Given the description of an element on the screen output the (x, y) to click on. 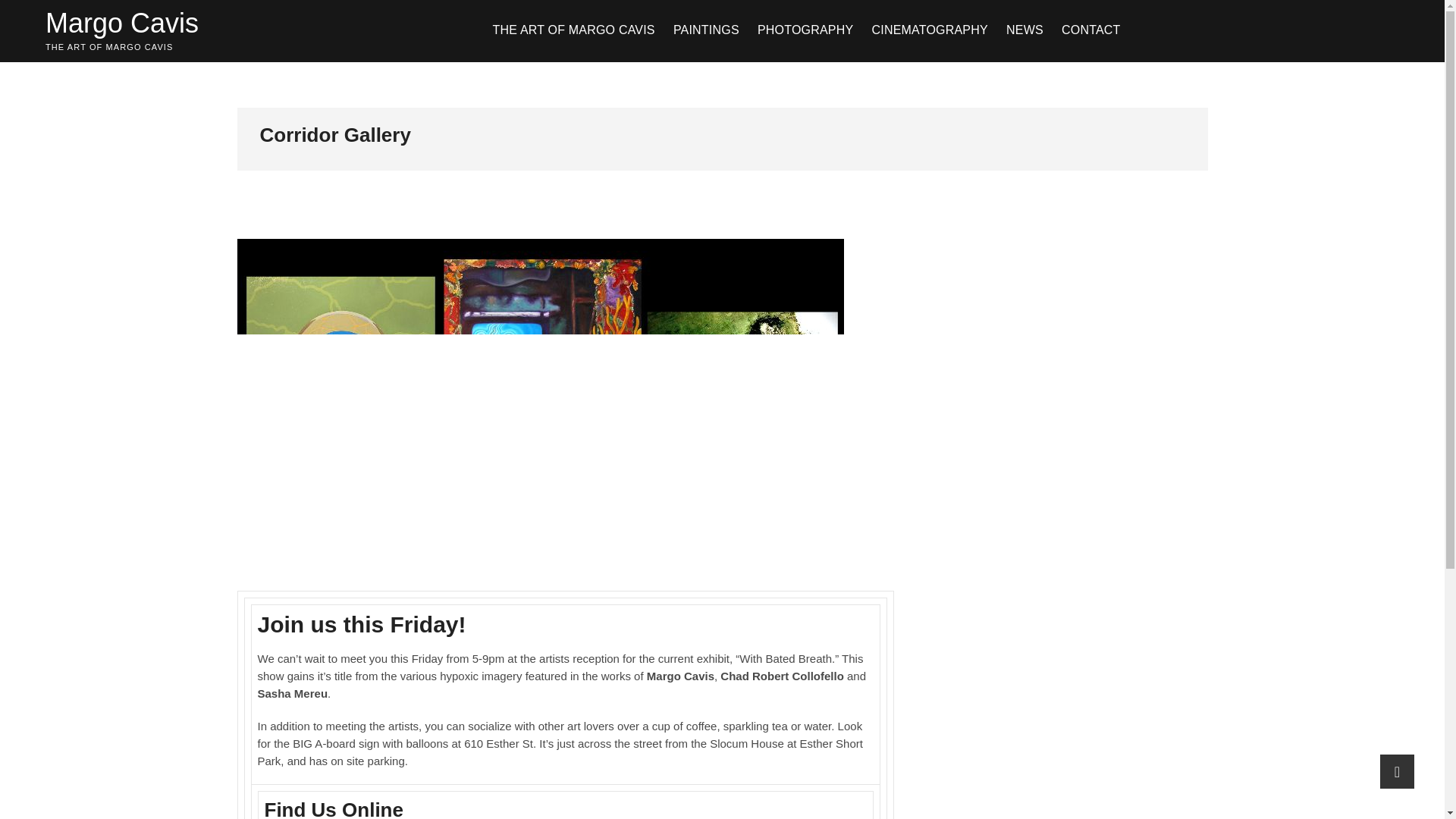
PHOTOGRAPHY (804, 30)
PAINTINGS (705, 30)
Margo Cavis (121, 23)
CINEMATOGRAPHY (928, 30)
Margo Cavis (121, 23)
NEWS (1024, 30)
THE ART OF MARGO CAVIS (573, 30)
CONTACT (1091, 30)
